Given the description of an element on the screen output the (x, y) to click on. 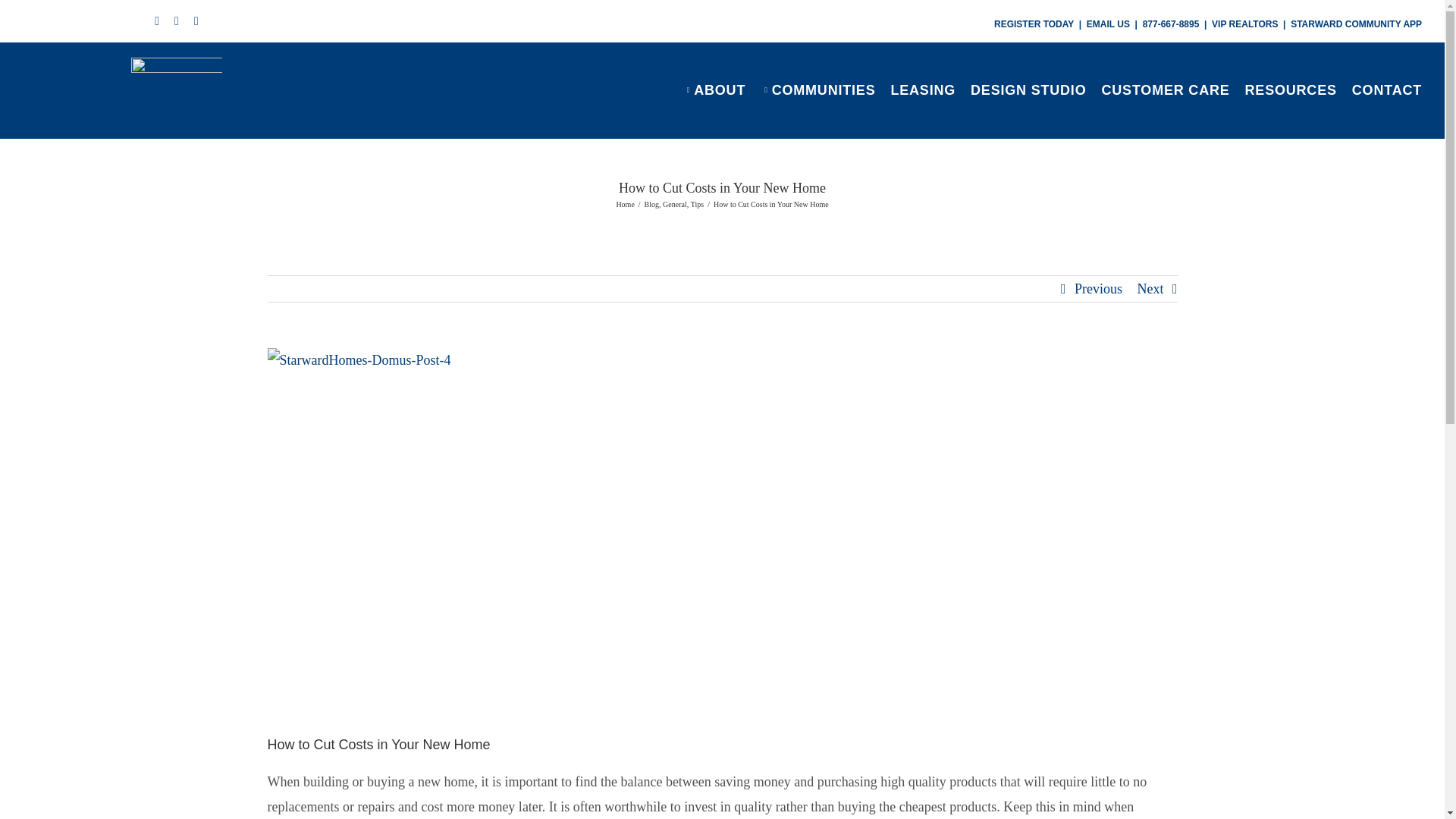
StarwardHomesLogo-retina (176, 90)
REGISTER TODAY (1034, 23)
VIP REALTORS (1244, 23)
EMAIL US (1106, 23)
ABOUT (713, 89)
STARWARD COMMUNITY APP (1356, 23)
877-667-8895 (1170, 23)
COMMUNITIES (817, 89)
